Given the description of an element on the screen output the (x, y) to click on. 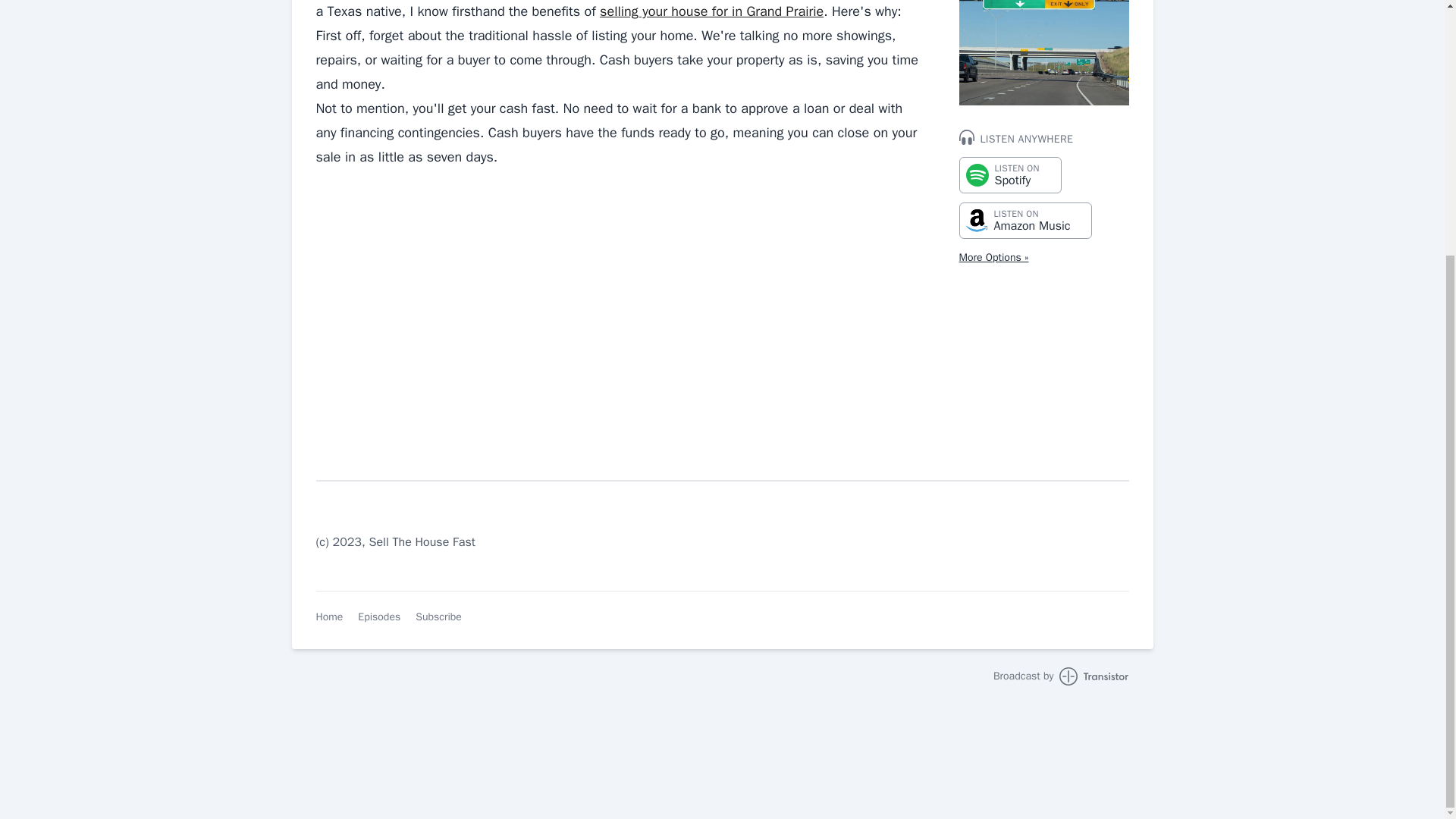
1x (112, 503)
Subscribe (437, 616)
Subscribe (437, 616)
Transistor.fm - Podcast Hosting and Analytics (1060, 676)
Broadcast by (1009, 175)
Home (1060, 676)
YouTube video player (328, 616)
Listen to Sell The House Fast on Spotify (542, 315)
Episodes (1009, 175)
